Given the description of an element on the screen output the (x, y) to click on. 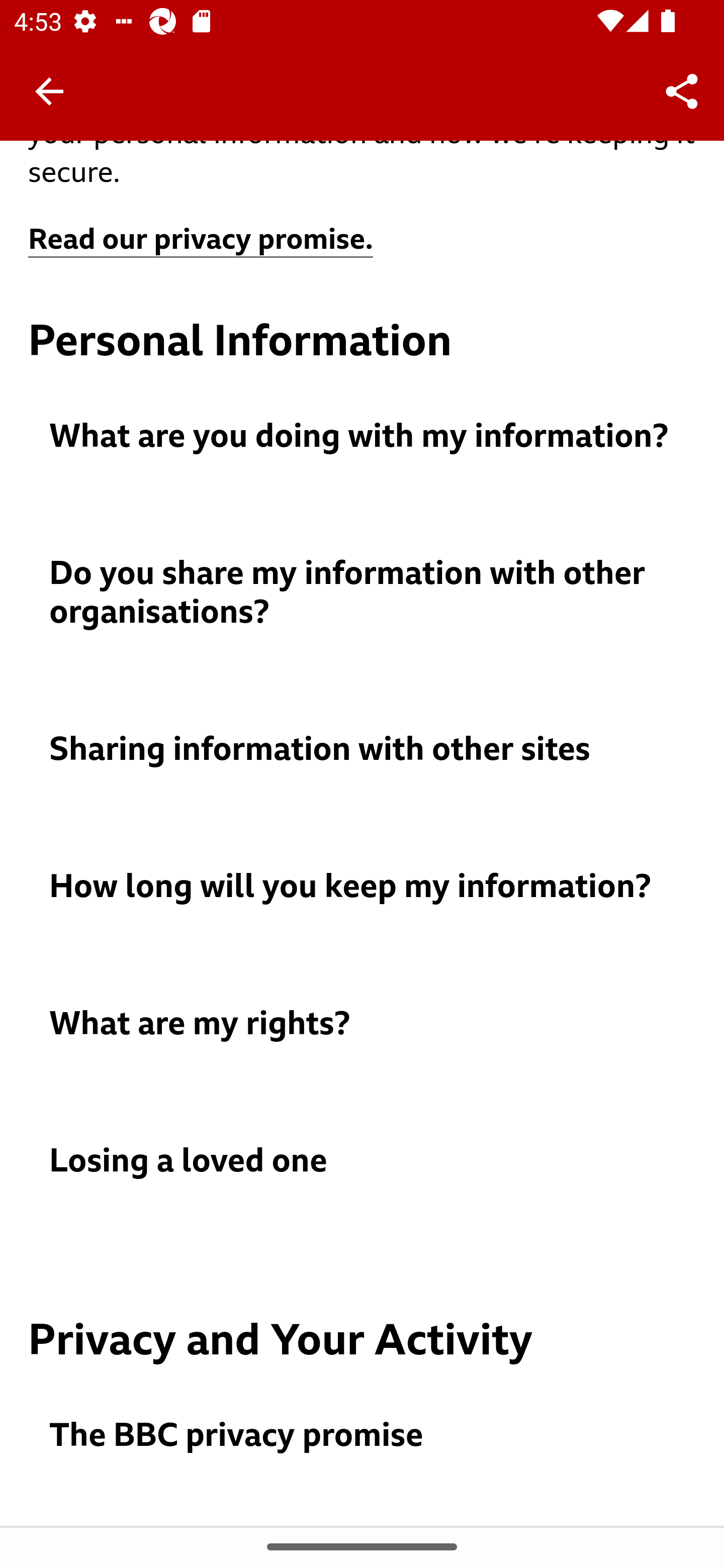
Back (49, 91)
Share (681, 90)
Read our privacy promise. (201, 240)
What are you doing with my information? (362, 437)
Sharing information with other sites (362, 749)
How long will you keep my information? (362, 887)
What are my rights? (362, 1023)
Losing a loved one (362, 1161)
The BBC privacy promise (362, 1435)
